Given the description of an element on the screen output the (x, y) to click on. 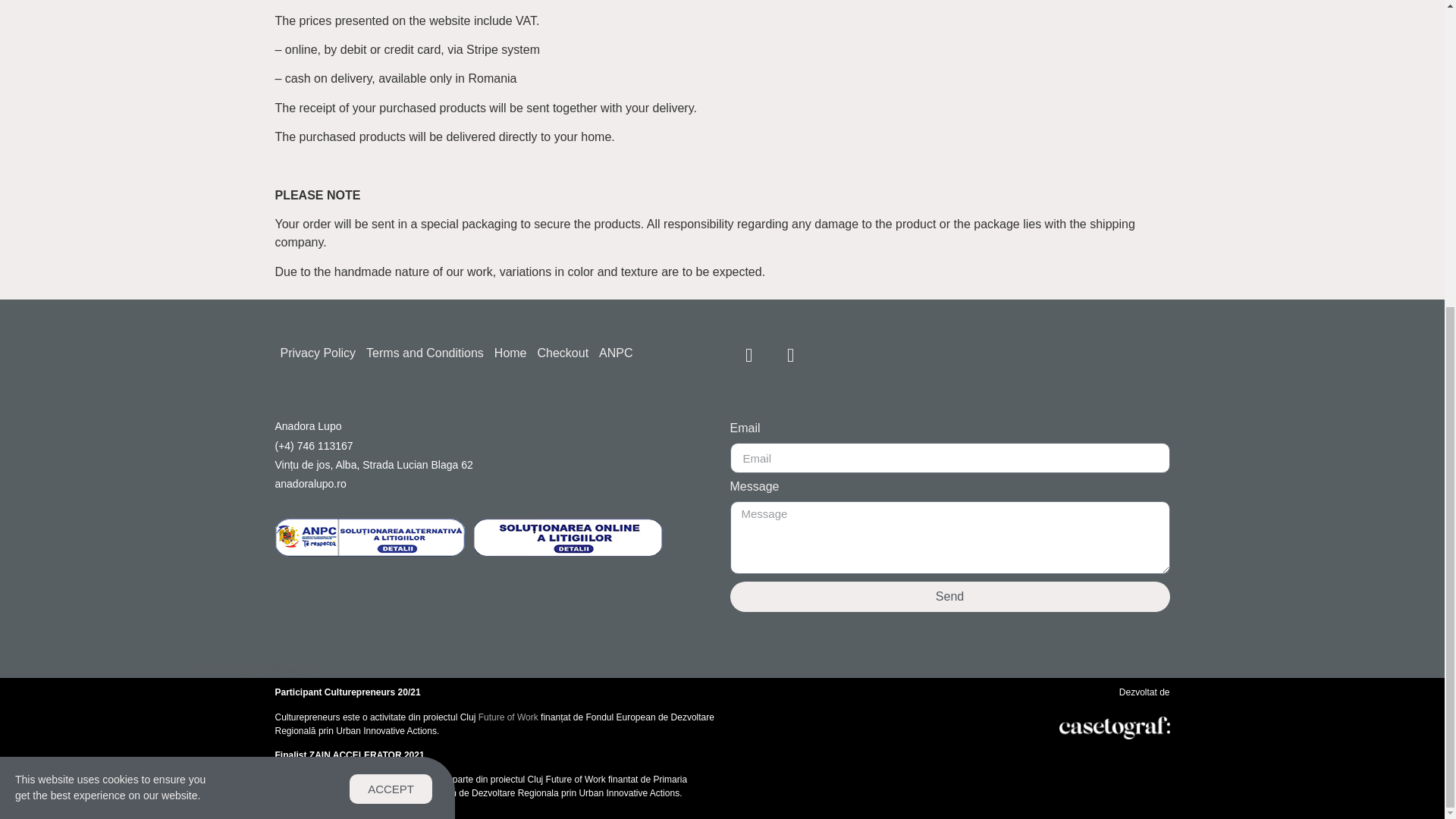
Future of Work (508, 716)
ANPC (615, 353)
Privacy Policy (318, 353)
Terms and Conditions (425, 353)
Checkout (563, 353)
ACCEPT (390, 307)
Home (510, 353)
Send (949, 596)
Ce este sal- ANPC (369, 552)
Solutionarea Online a Litigiilor (567, 552)
